Given the description of an element on the screen output the (x, y) to click on. 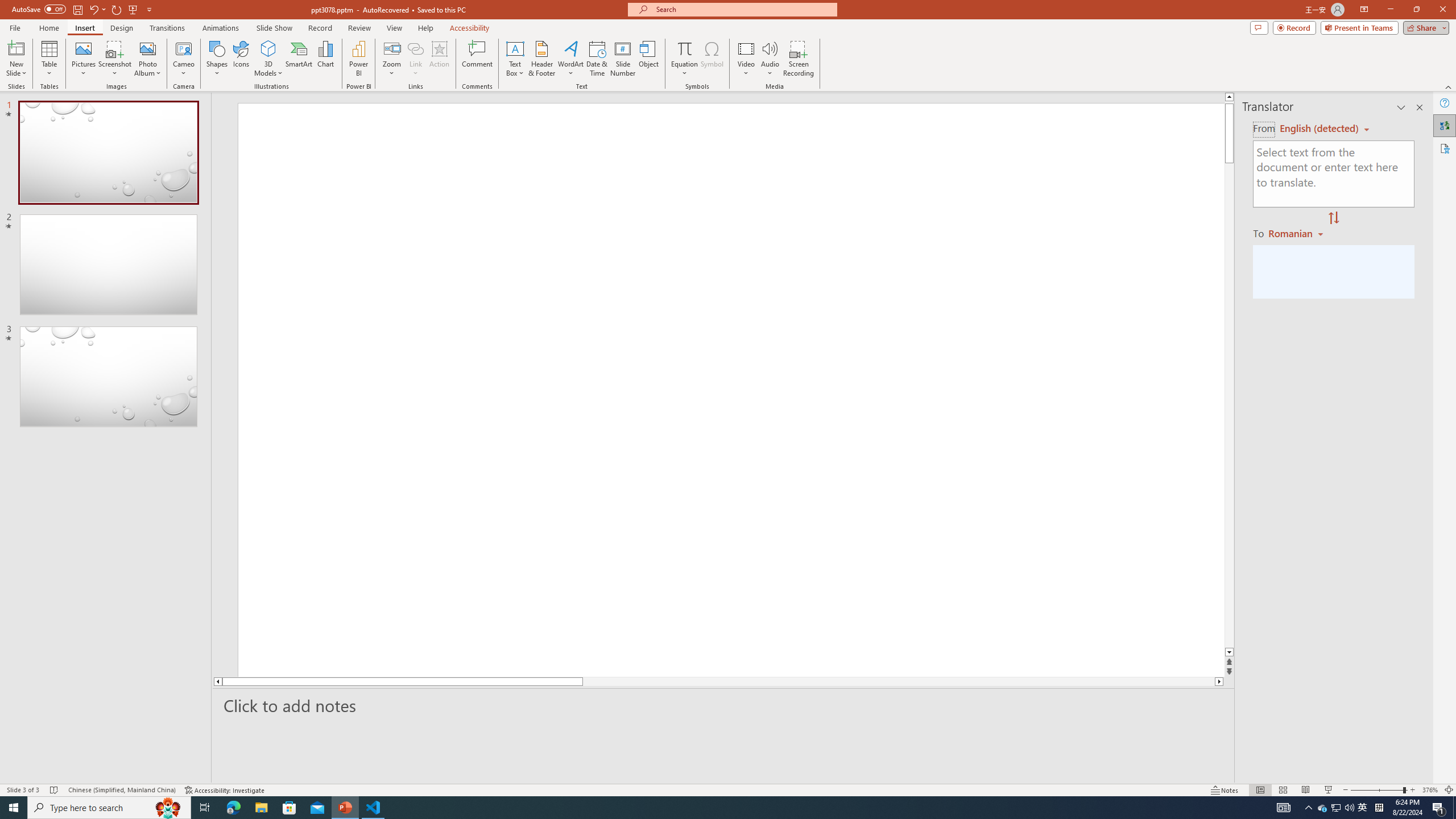
Header & Footer... (541, 58)
Screen Recording... (798, 58)
Slide Number (622, 58)
Action (439, 58)
